Given the description of an element on the screen output the (x, y) to click on. 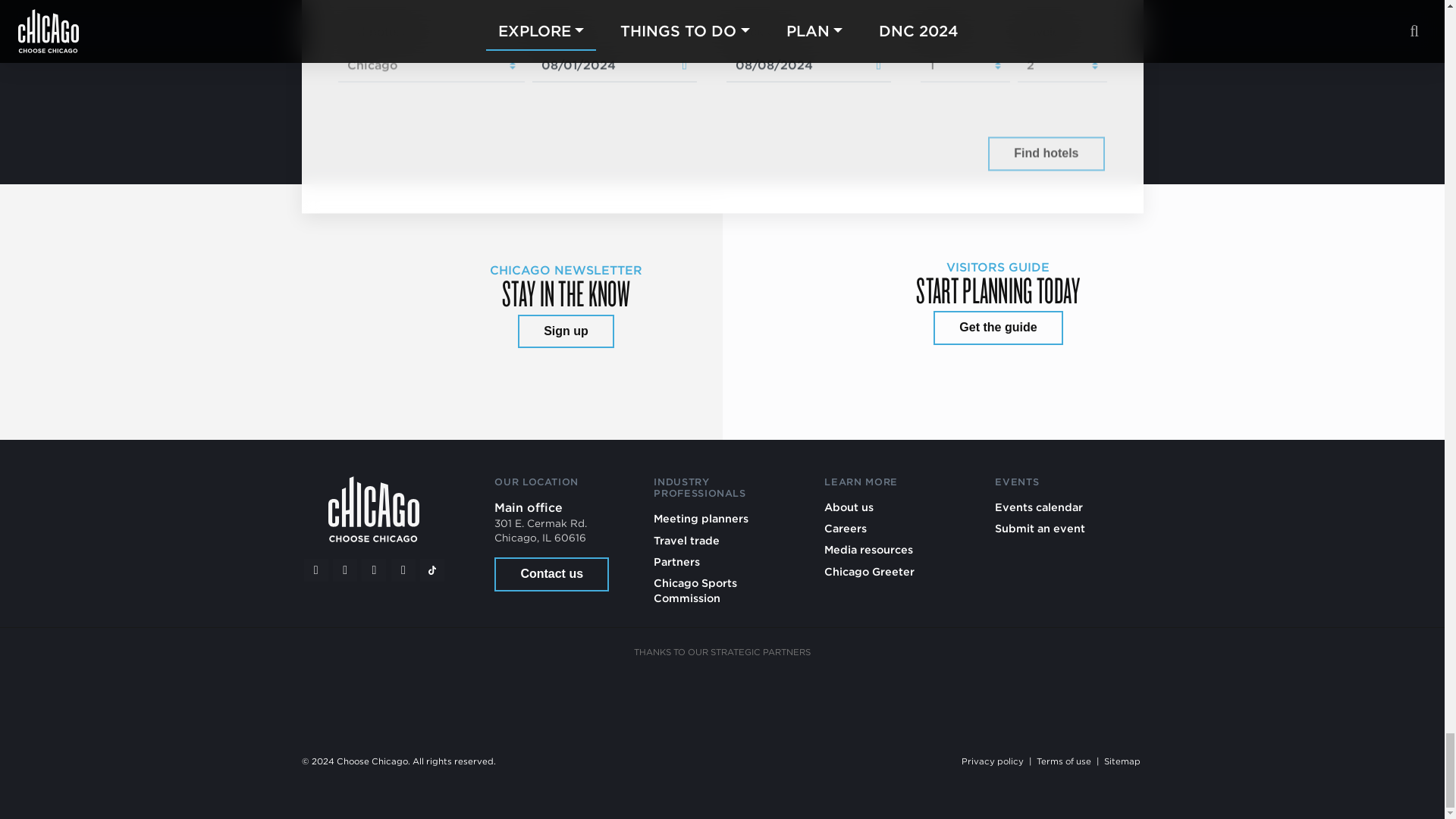
Powered by Expedia (917, 154)
Chicago Department of Aviation (894, 695)
American Airlines (433, 695)
Brand USA (549, 695)
Enjoy Illinois (779, 695)
